Given the description of an element on the screen output the (x, y) to click on. 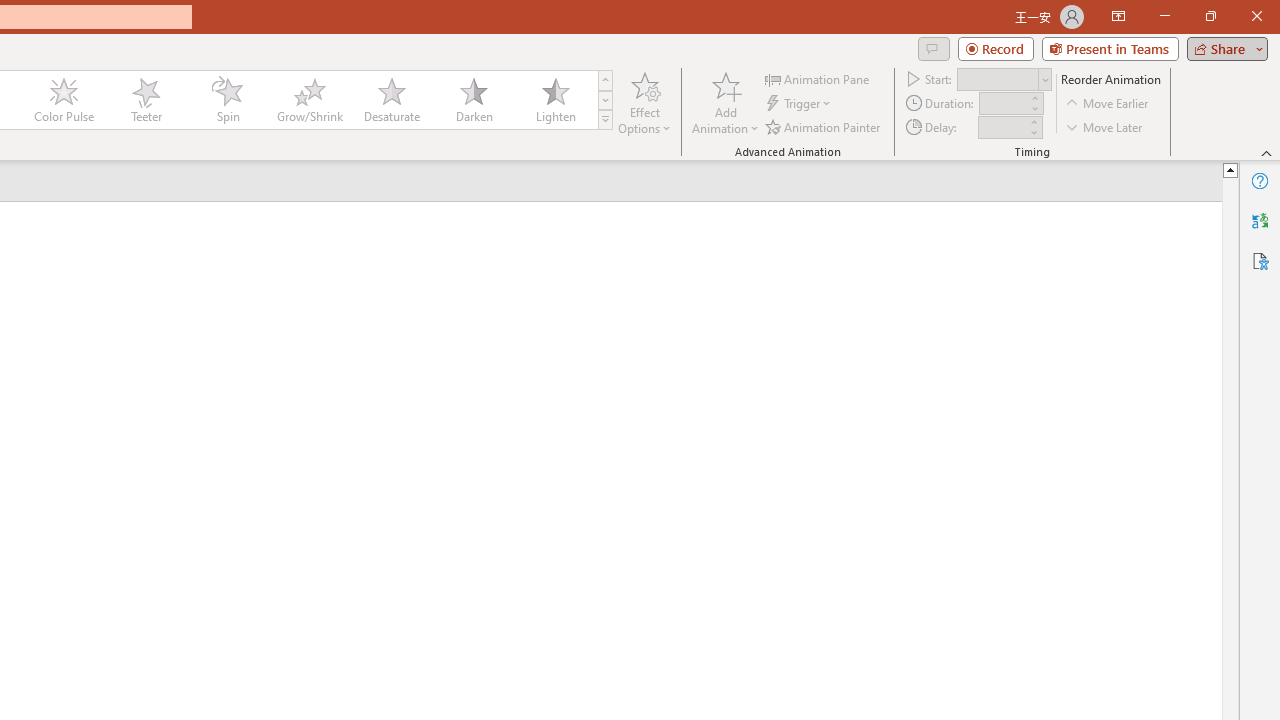
Animation Duration (1003, 103)
Add Animation (725, 102)
Teeter (145, 100)
Animation Pane (818, 78)
